Given the description of an element on the screen output the (x, y) to click on. 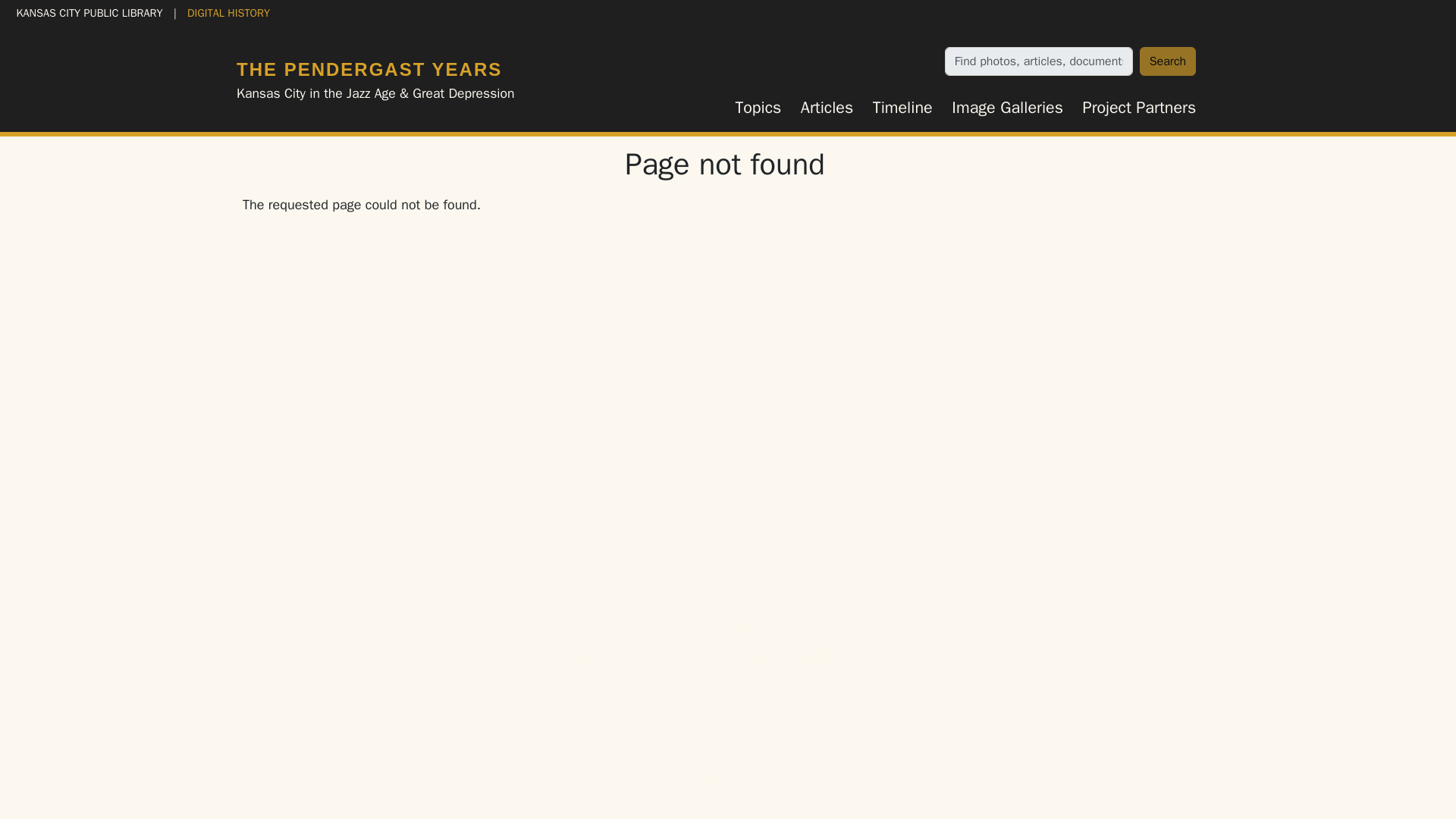
Articles (826, 107)
Contact (725, 776)
Topics (757, 107)
Project Partners (1139, 107)
Timeline (902, 107)
Search (1168, 61)
Works Cited (746, 710)
Image Galleries (1007, 107)
Search (1168, 61)
Index (682, 710)
